Given the description of an element on the screen output the (x, y) to click on. 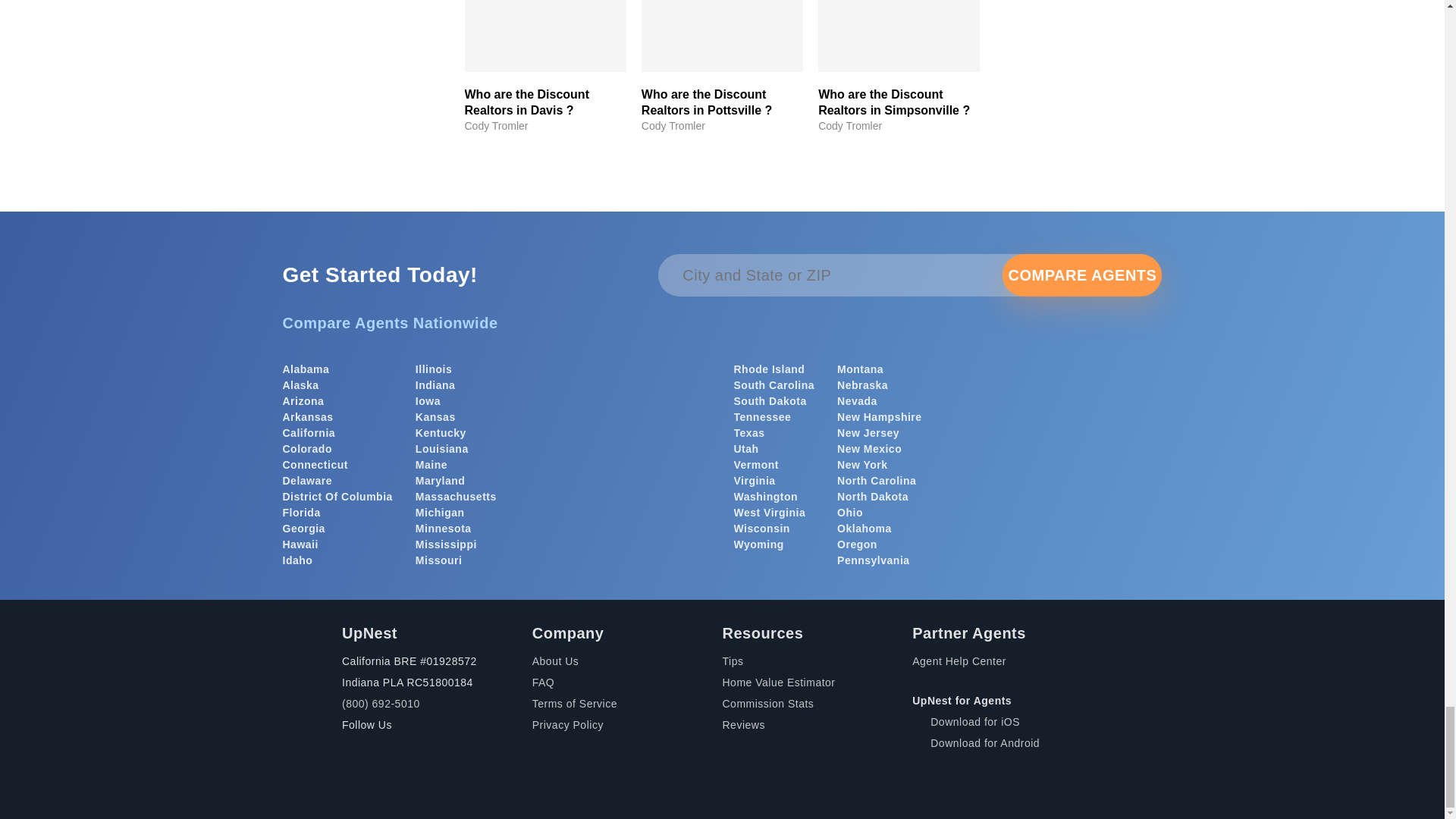
Compare Agents (1082, 274)
Enter your city and state or type in your ZIP code (856, 274)
